Given the description of an element on the screen output the (x, y) to click on. 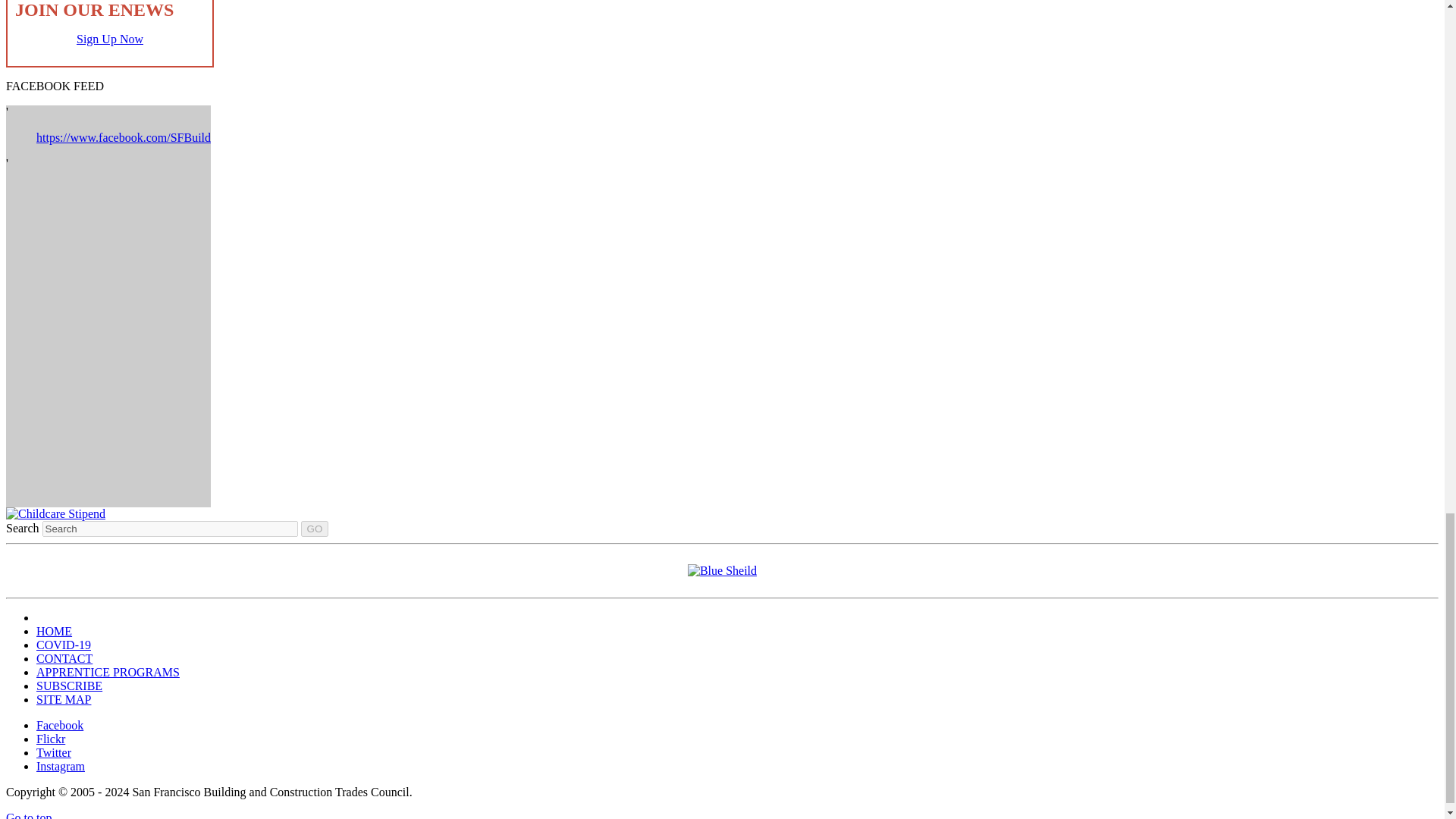
BLUE SHEILD FOOTER BANNER 3 (722, 570)
Childcare Stipend 2 (54, 513)
Twitter (53, 752)
Search (170, 528)
Instagram (60, 766)
Search (170, 528)
Flickr (50, 738)
Facebook (59, 725)
